Given the description of an element on the screen output the (x, y) to click on. 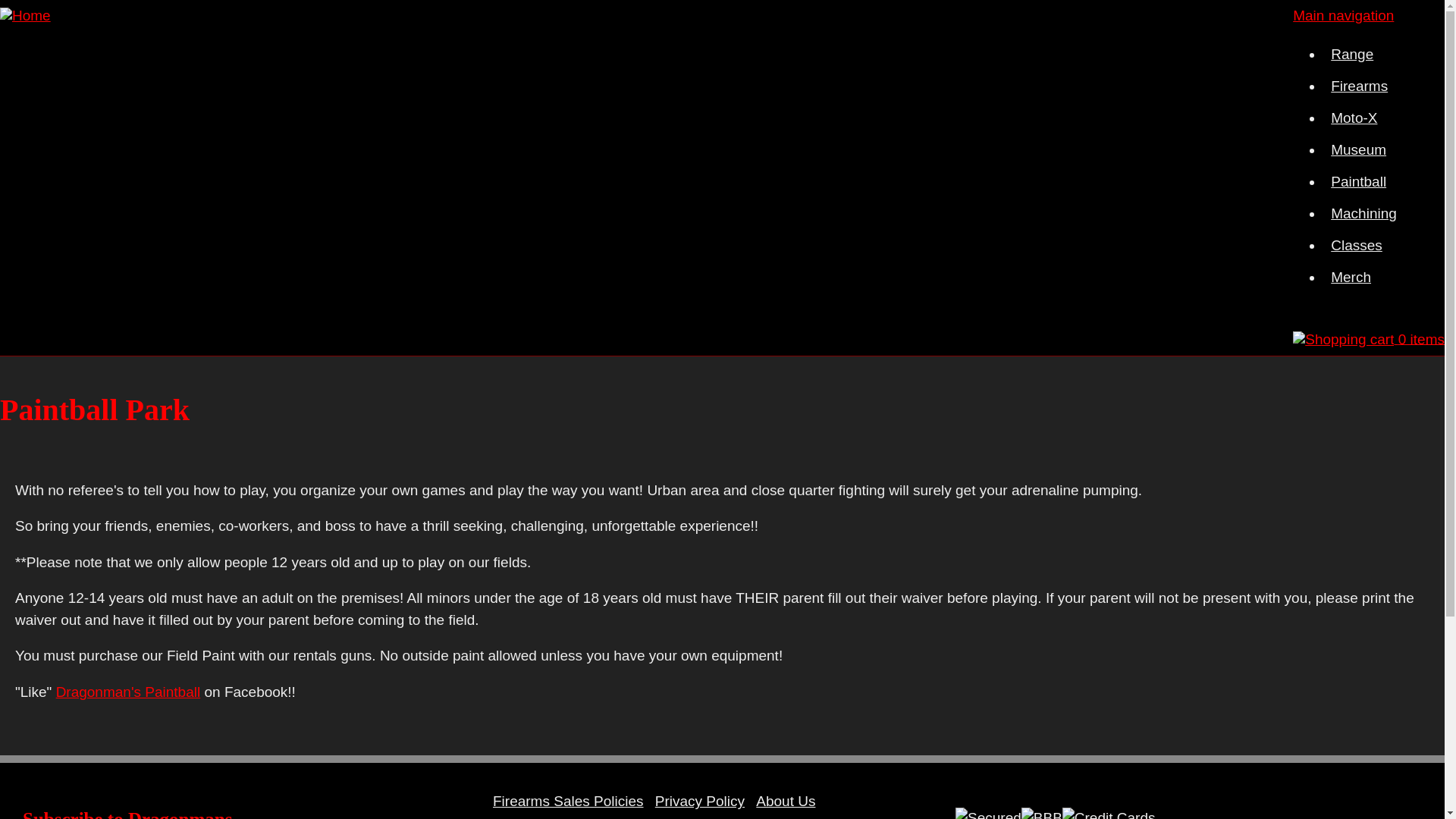
Firearms Sales Policies (568, 801)
Privacy Policy (699, 801)
Dragonman's Paintball (128, 691)
About Us (785, 801)
Main navigation (1342, 15)
